Given the description of an element on the screen output the (x, y) to click on. 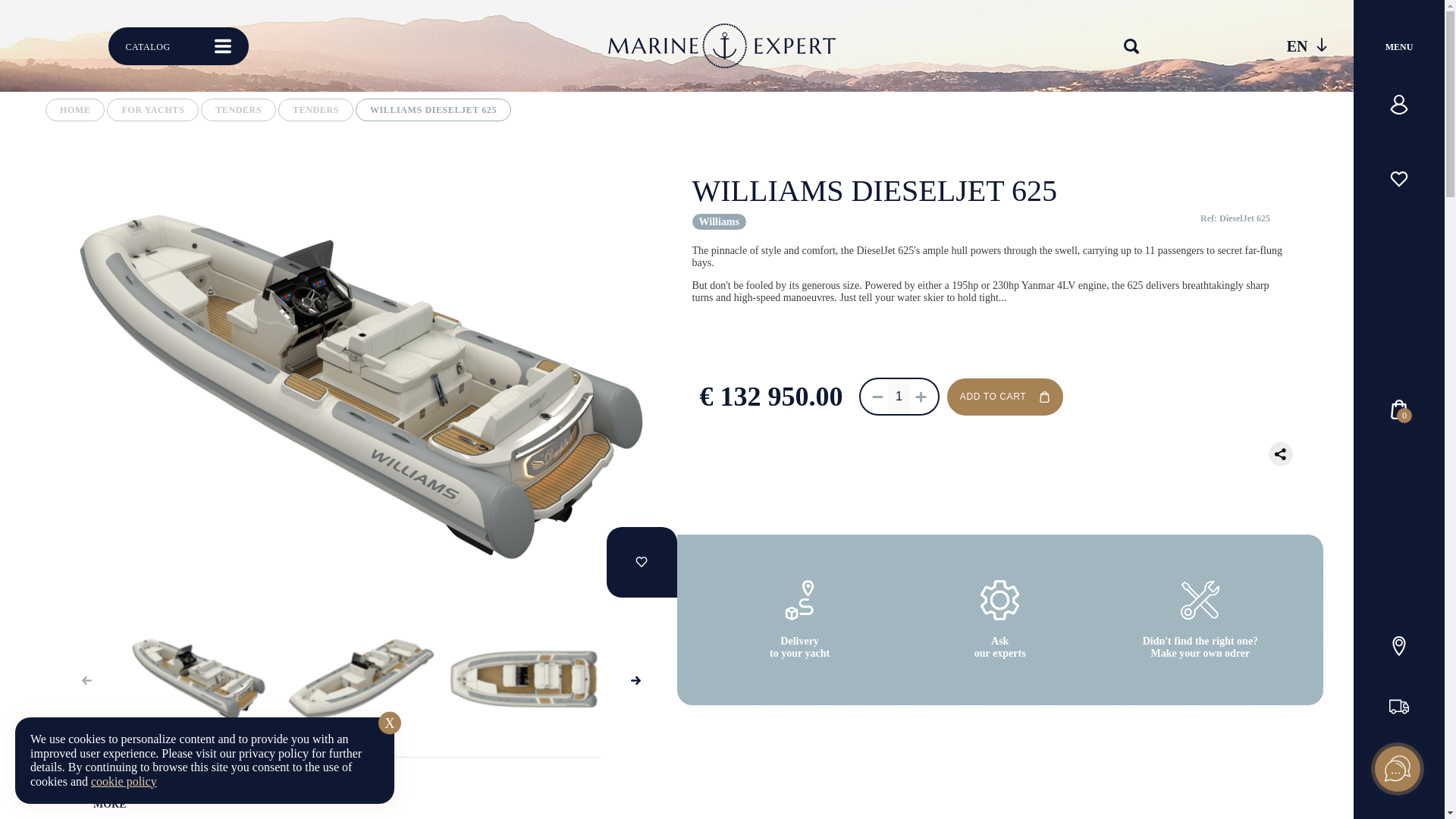
Home (74, 109)
Cart (1398, 409)
Tenders (238, 109)
Tenders (315, 109)
Favourites (1398, 178)
CATALOG (177, 46)
Contacts (1398, 646)
For yachts (152, 109)
call (1398, 767)
Delivery (1398, 706)
Account (1398, 104)
